Given the description of an element on the screen output the (x, y) to click on. 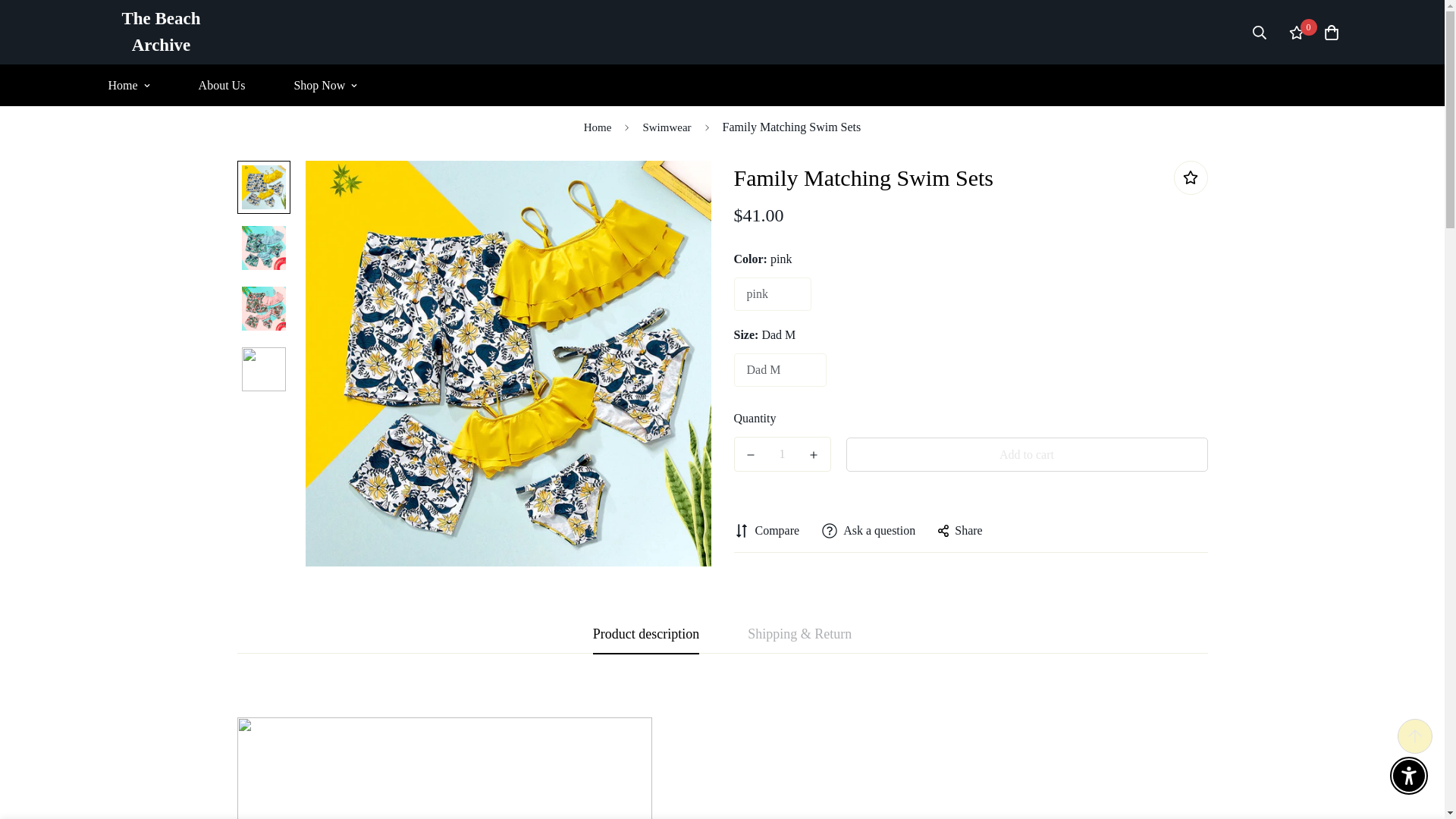
Swimwear (666, 127)
Home (598, 127)
Shop Now (325, 85)
About Us (722, 85)
Back to the home page (221, 85)
1 (231, 85)
Home (598, 127)
The Beach Archive (782, 453)
